Given the description of an element on the screen output the (x, y) to click on. 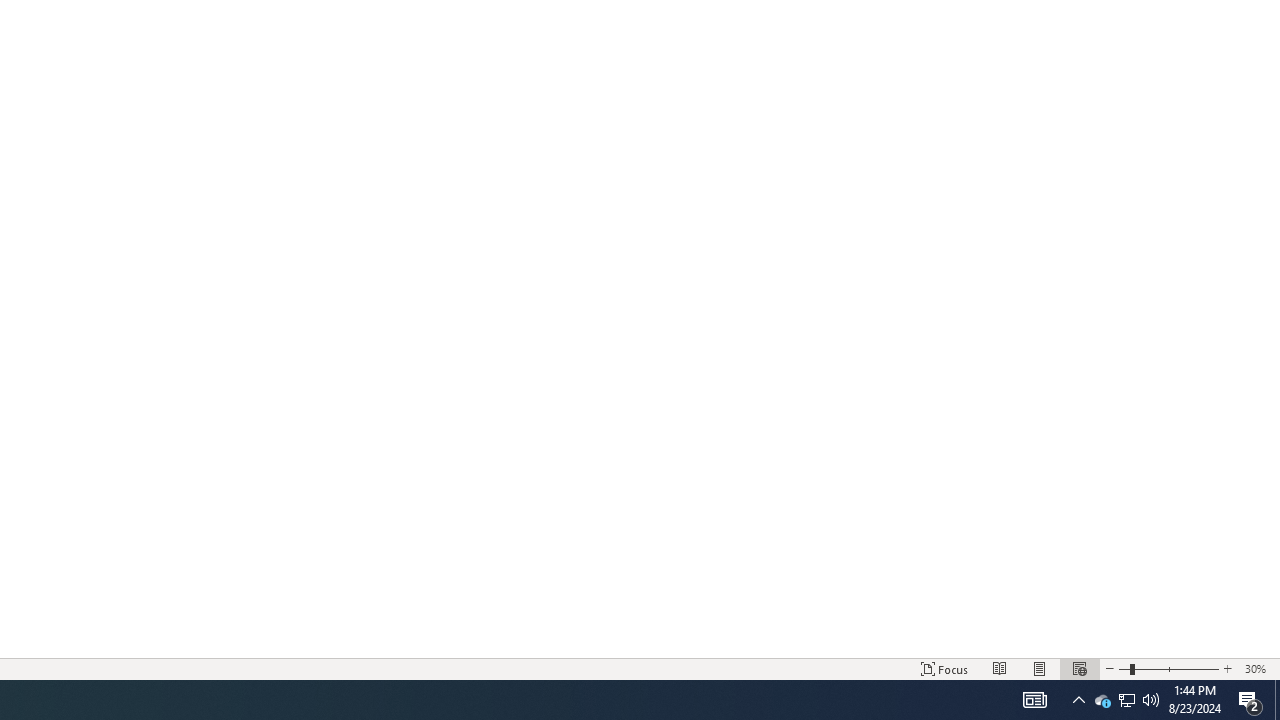
Zoom Out (1124, 668)
Focus  (944, 668)
Zoom (1168, 668)
Zoom In (1227, 668)
Zoom 30% (1258, 668)
Print Layout (1039, 668)
Web Layout (1079, 668)
Read Mode (1000, 668)
